Given the description of an element on the screen output the (x, y) to click on. 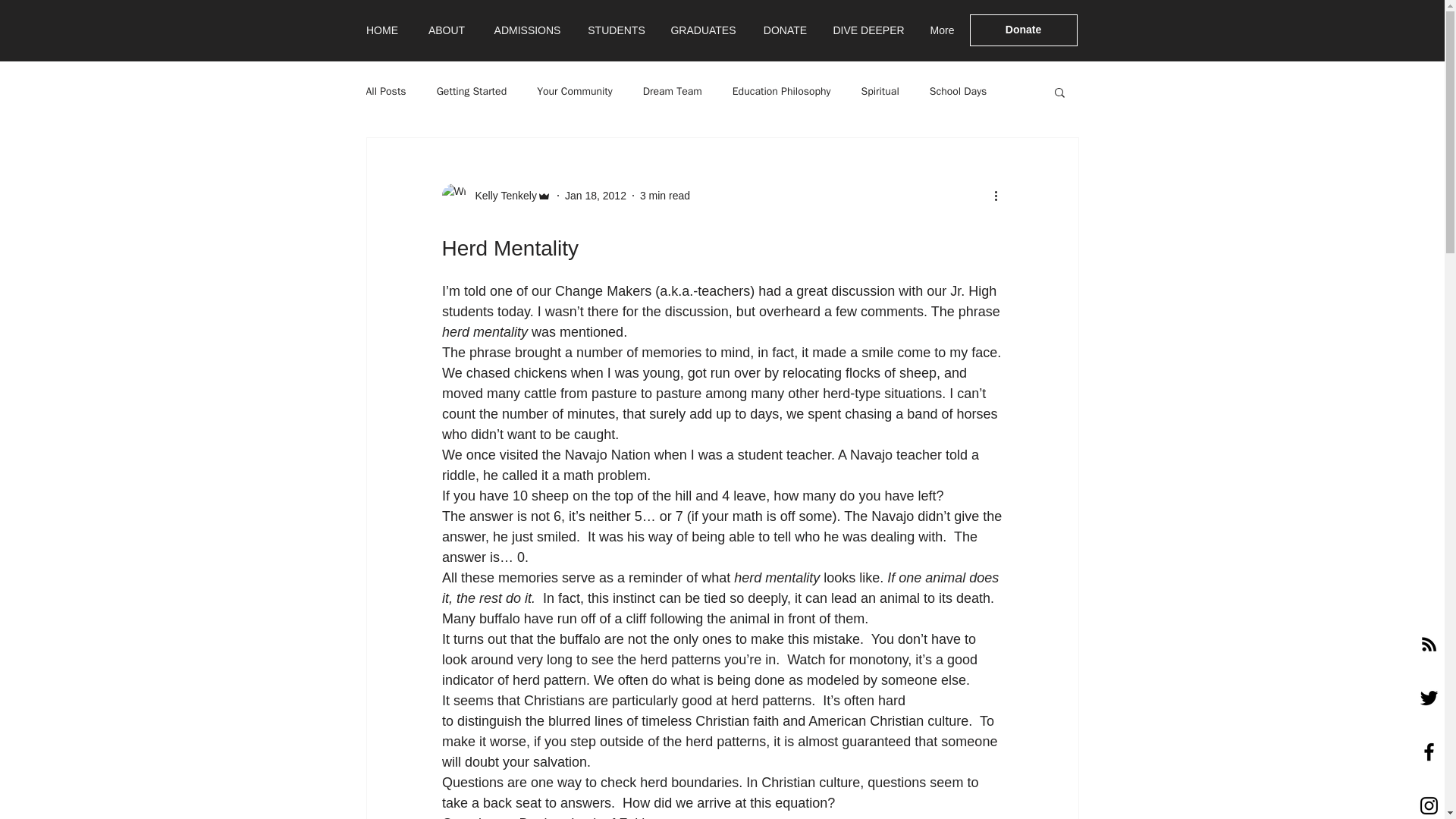
Education Philosophy (781, 91)
STUDENTS (616, 29)
Kelly Tenkely (500, 195)
Spiritual (879, 91)
3 min read (665, 195)
ADMISSIONS (527, 29)
Donate (1023, 29)
DONATE (785, 29)
HOME (381, 29)
ABOUT (446, 29)
Getting Started (471, 91)
DIVE DEEPER (868, 29)
GRADUATES (703, 29)
Jan 18, 2012 (595, 195)
All Posts (385, 91)
